Given the description of an element on the screen output the (x, y) to click on. 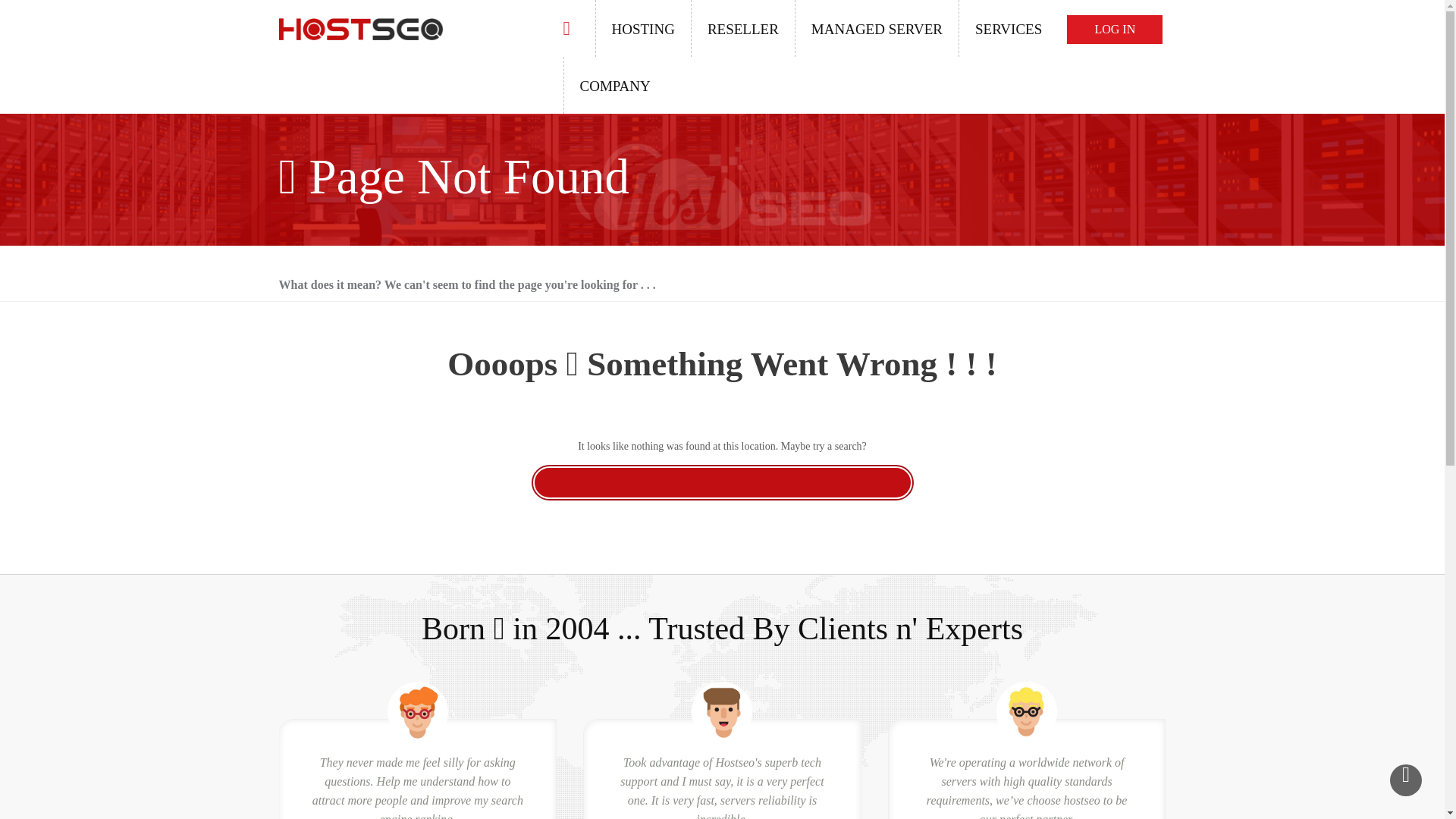
HOSTING (642, 28)
RESELLER (742, 28)
SERVICES (1008, 28)
COMPANY (613, 84)
MANAGED SERVER (876, 28)
